Given the description of an element on the screen output the (x, y) to click on. 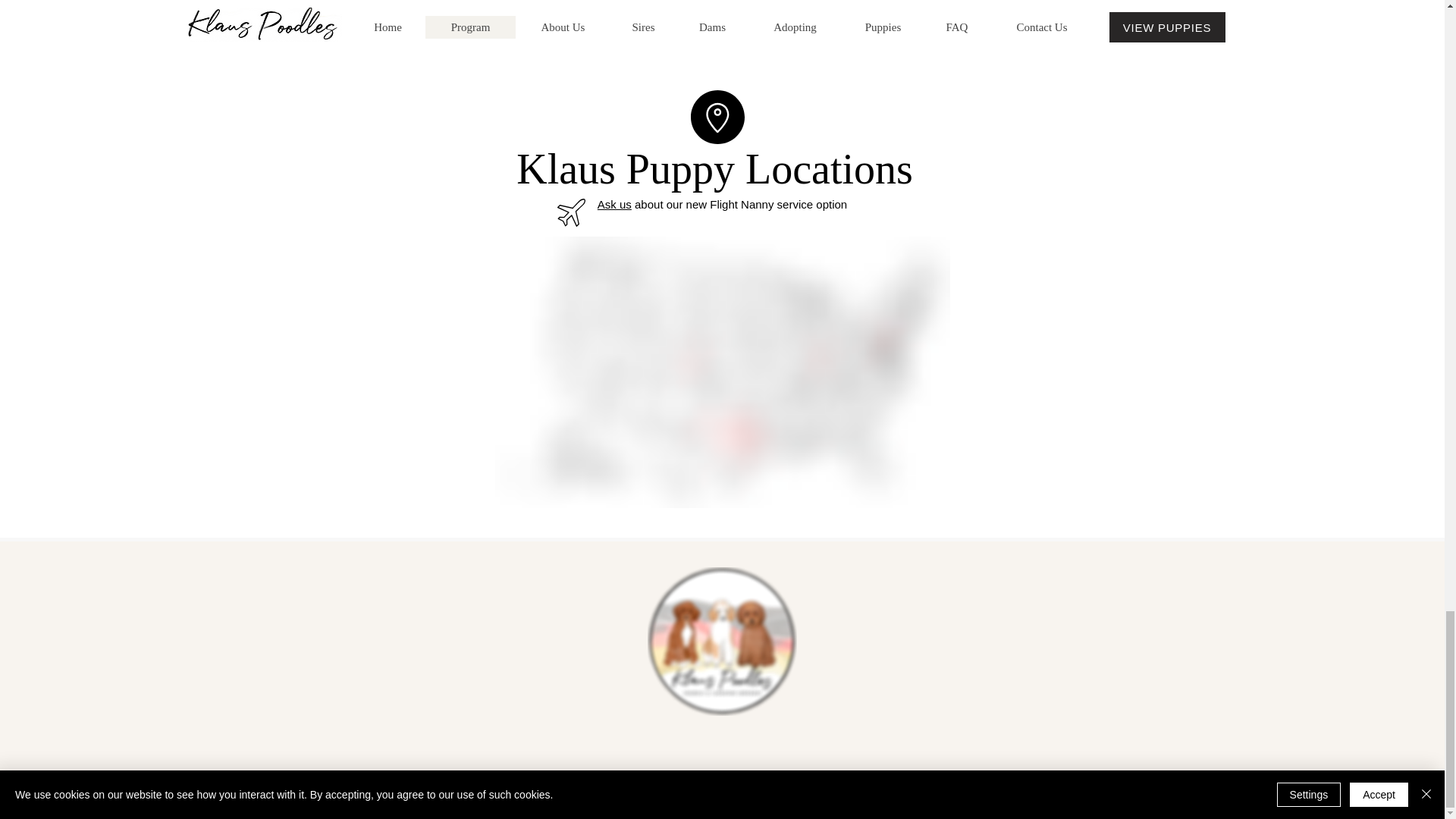
Privacy Policy (1061, 803)
Ask us (613, 204)
Do Not Sell My Personal Information (422, 806)
